Given the description of an element on the screen output the (x, y) to click on. 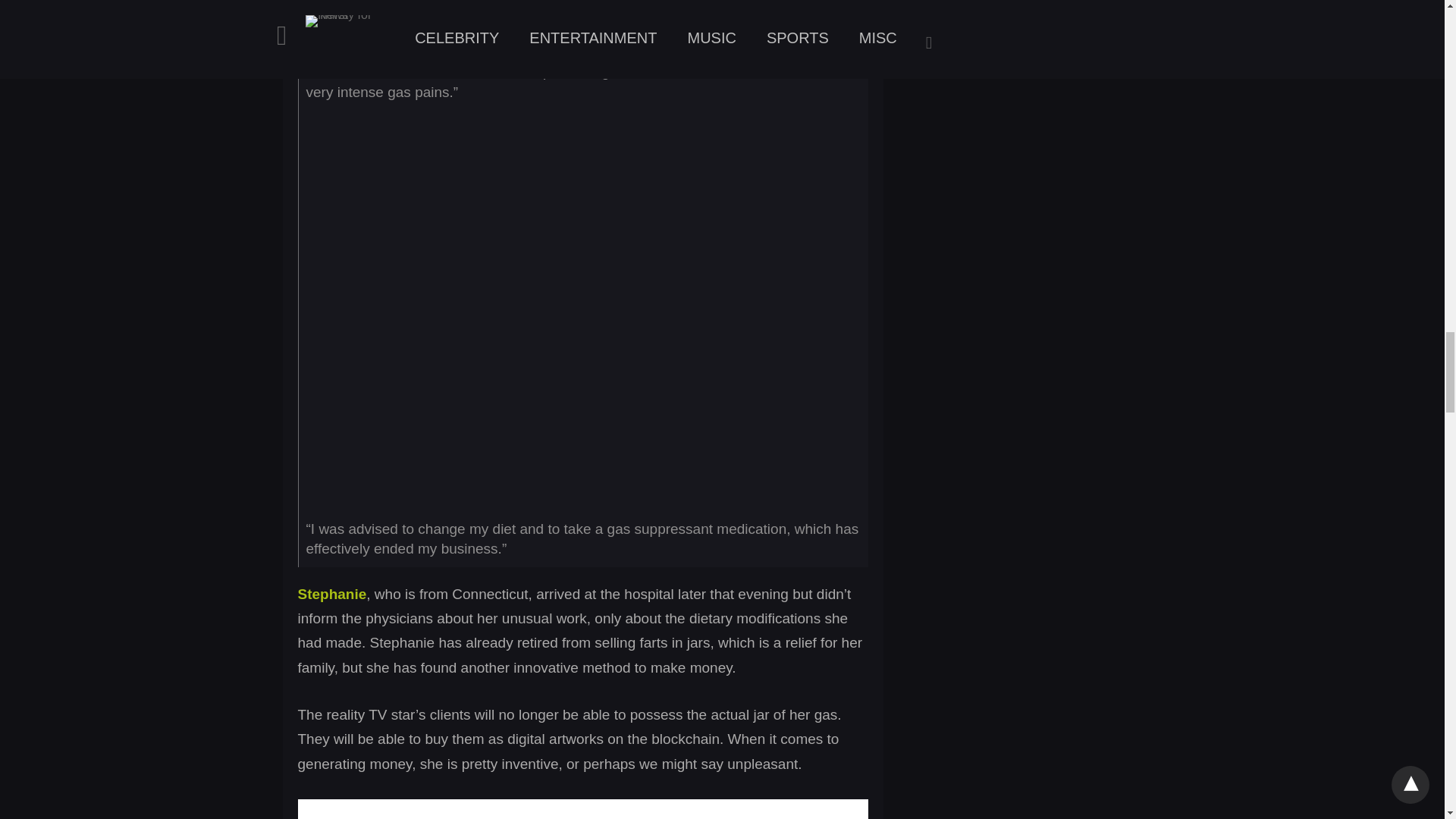
Stephanie (331, 593)
